Given the description of an element on the screen output the (x, y) to click on. 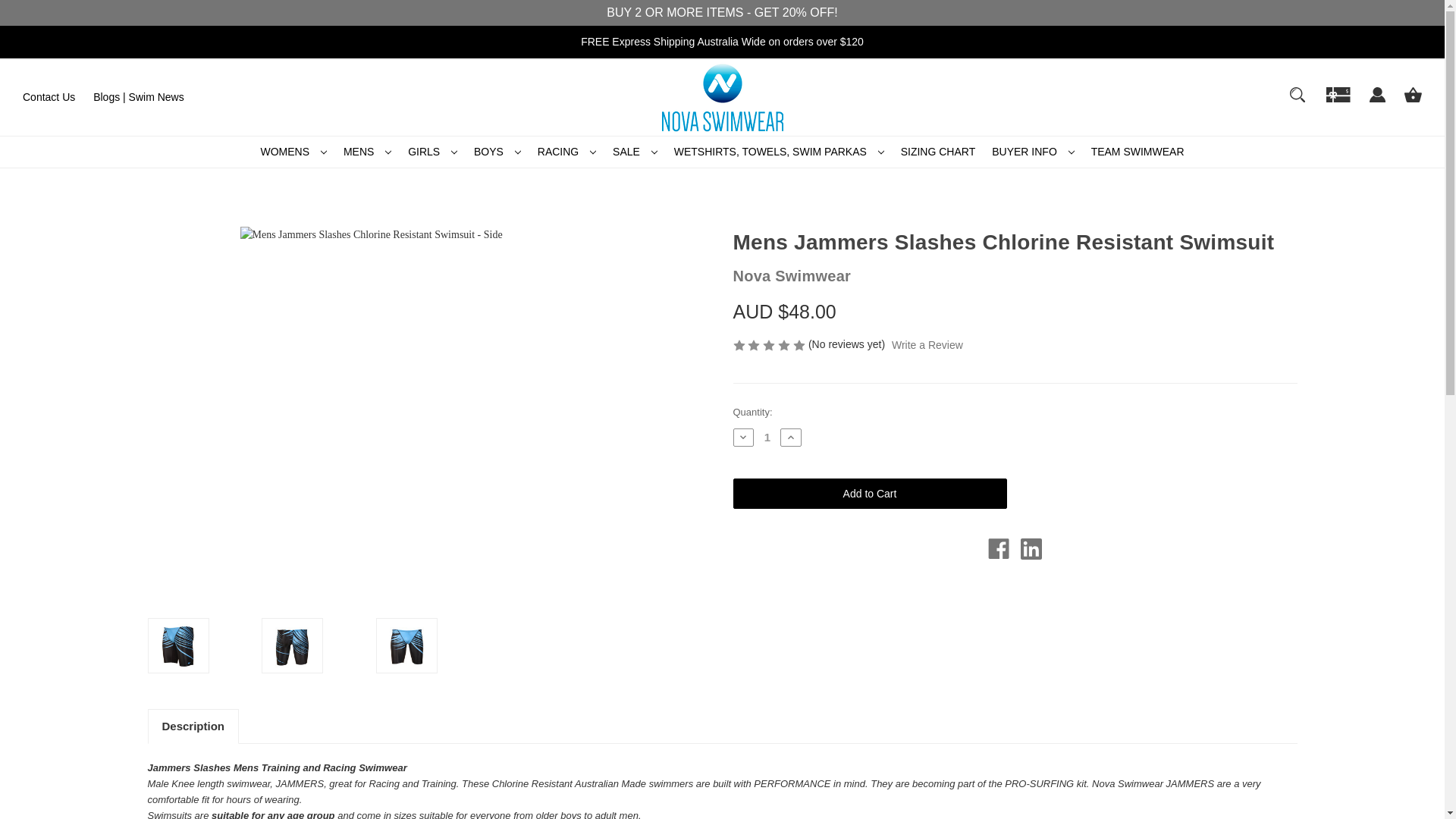
Contact Us (48, 96)
GIRLS (431, 151)
MENS (366, 151)
MAGNIFYING GLASS IMAGE LARGE RED CIRCLE WITH A BLACK BORDER (1297, 94)
GIFT CARD IMAGE LARGE SQUARE BLACK IMAGE WITH A BOW ONTOP (1337, 101)
RACING (566, 151)
WOMENS (292, 151)
GIFT CARD IMAGE LARGE SQUARE BLACK IMAGE WITH A BOW ONTOP (1337, 94)
1 (767, 436)
